Given the description of an element on the screen output the (x, y) to click on. 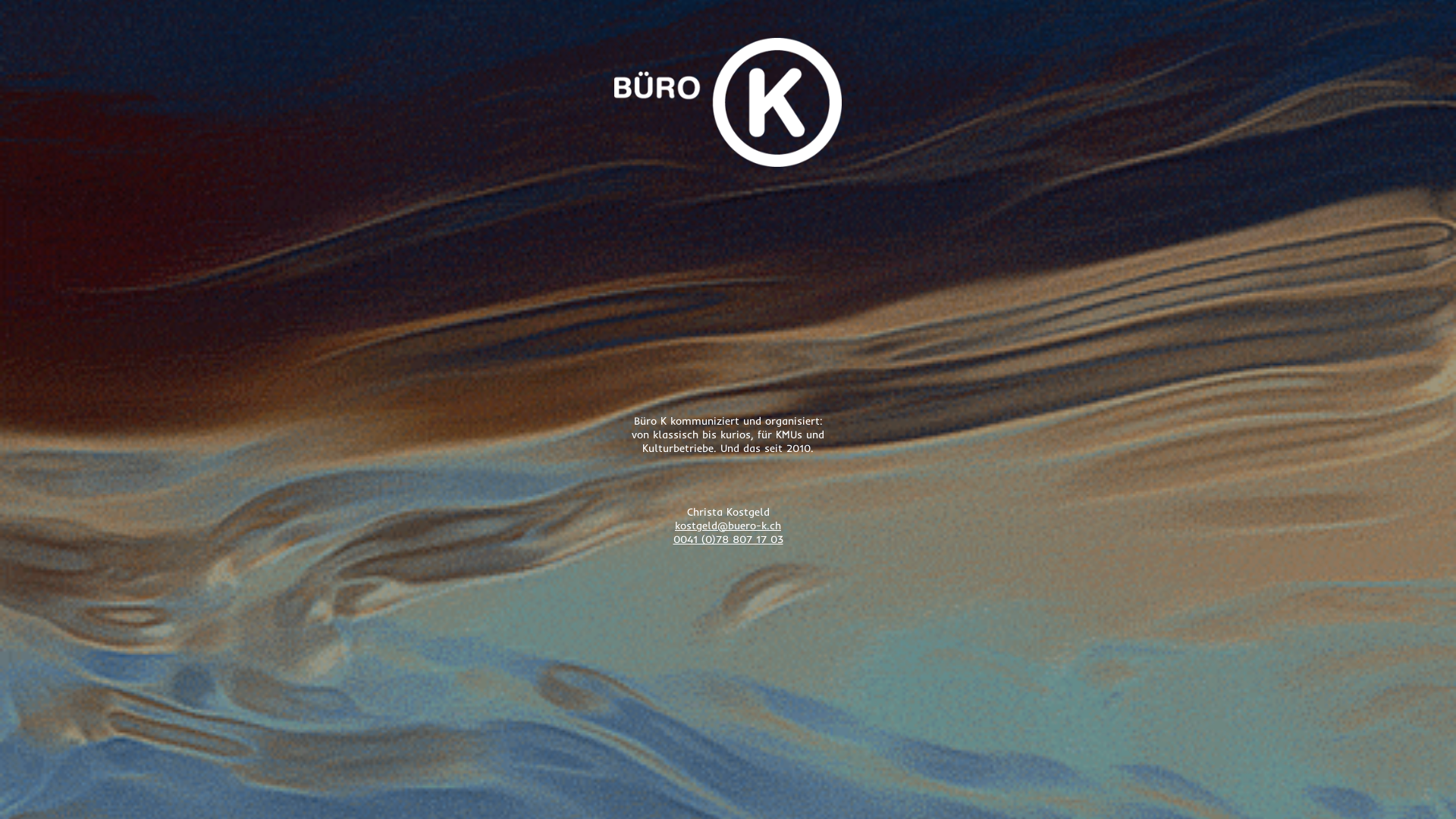
kostgeld@buero-k.ch Element type: text (727, 525)
0041 (0)78 807 17 03 Element type: text (728, 539)
